Given the description of an element on the screen output the (x, y) to click on. 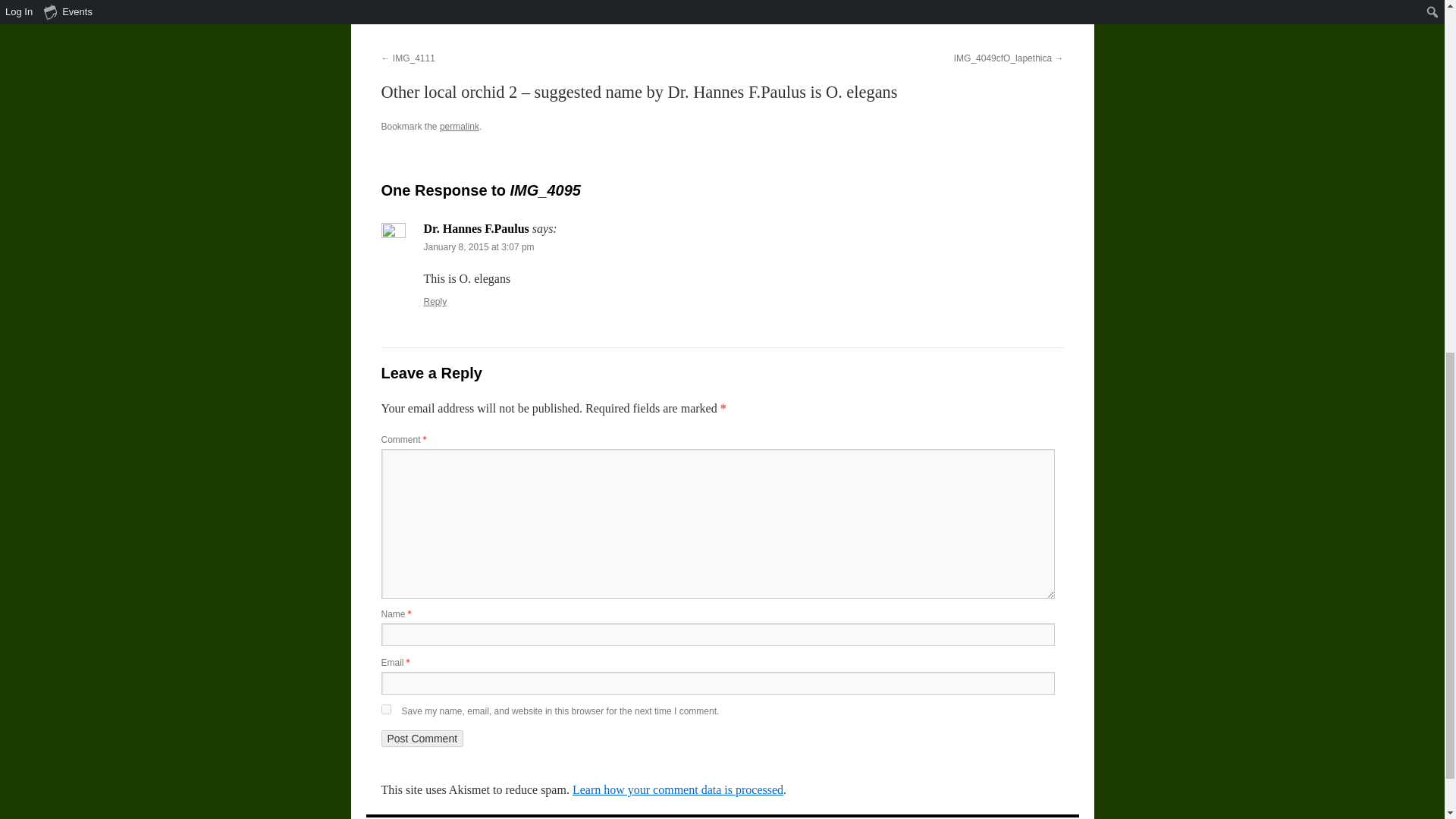
January 8, 2015 at 3:07 pm (478, 246)
permalink (459, 126)
yes (385, 709)
Post Comment (421, 738)
